Given the description of an element on the screen output the (x, y) to click on. 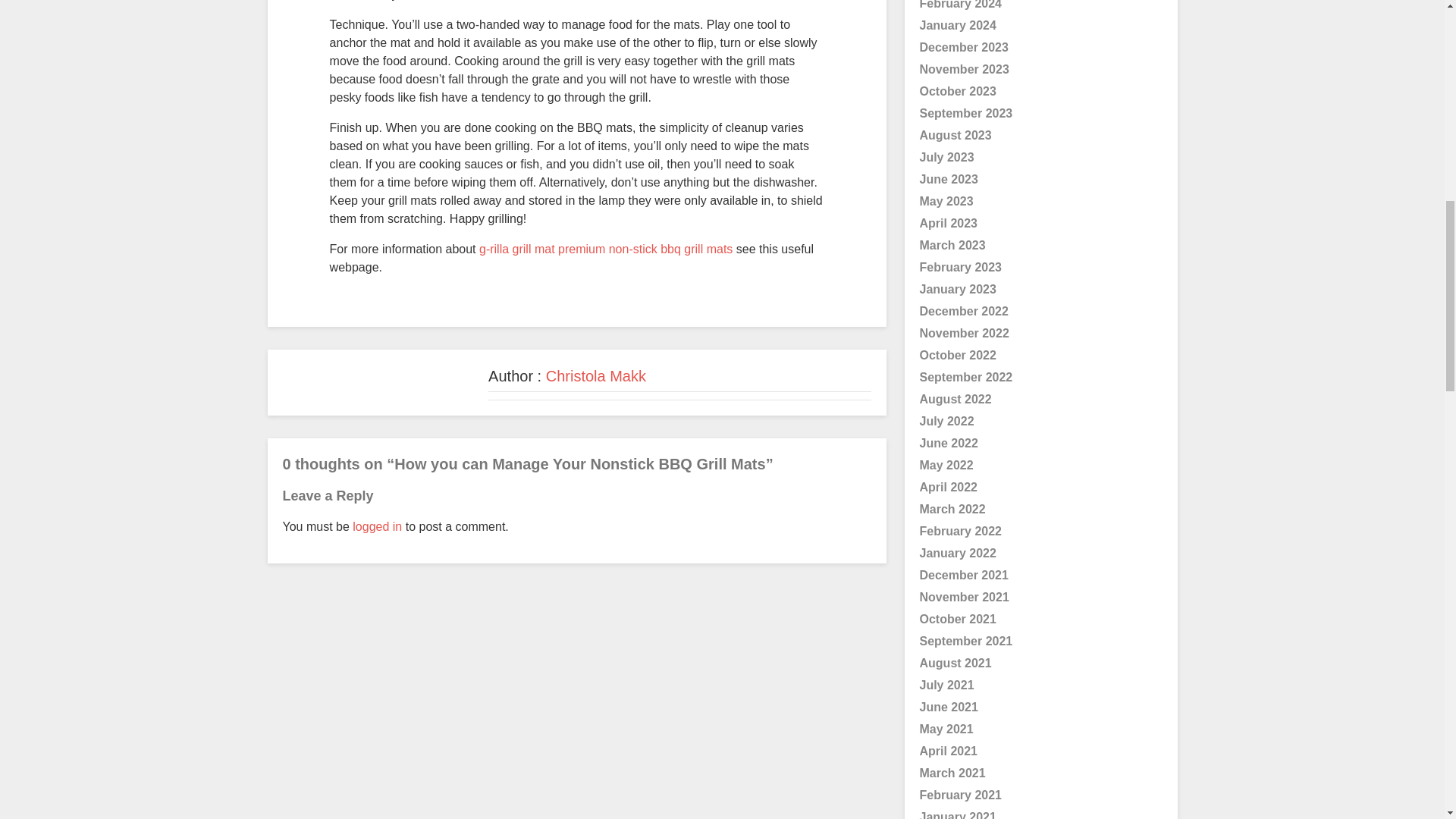
June 2023 (947, 178)
February 2024 (959, 4)
November 2022 (963, 332)
July 2023 (946, 156)
October 2023 (956, 91)
g-rilla grill mat premium non-stick (570, 248)
November 2023 (963, 69)
bbq grill mats (696, 248)
May 2023 (945, 201)
January 2023 (956, 288)
March 2023 (951, 245)
January 2024 (956, 24)
Christola Makk (596, 375)
logged in (376, 526)
February 2023 (959, 267)
